Given the description of an element on the screen output the (x, y) to click on. 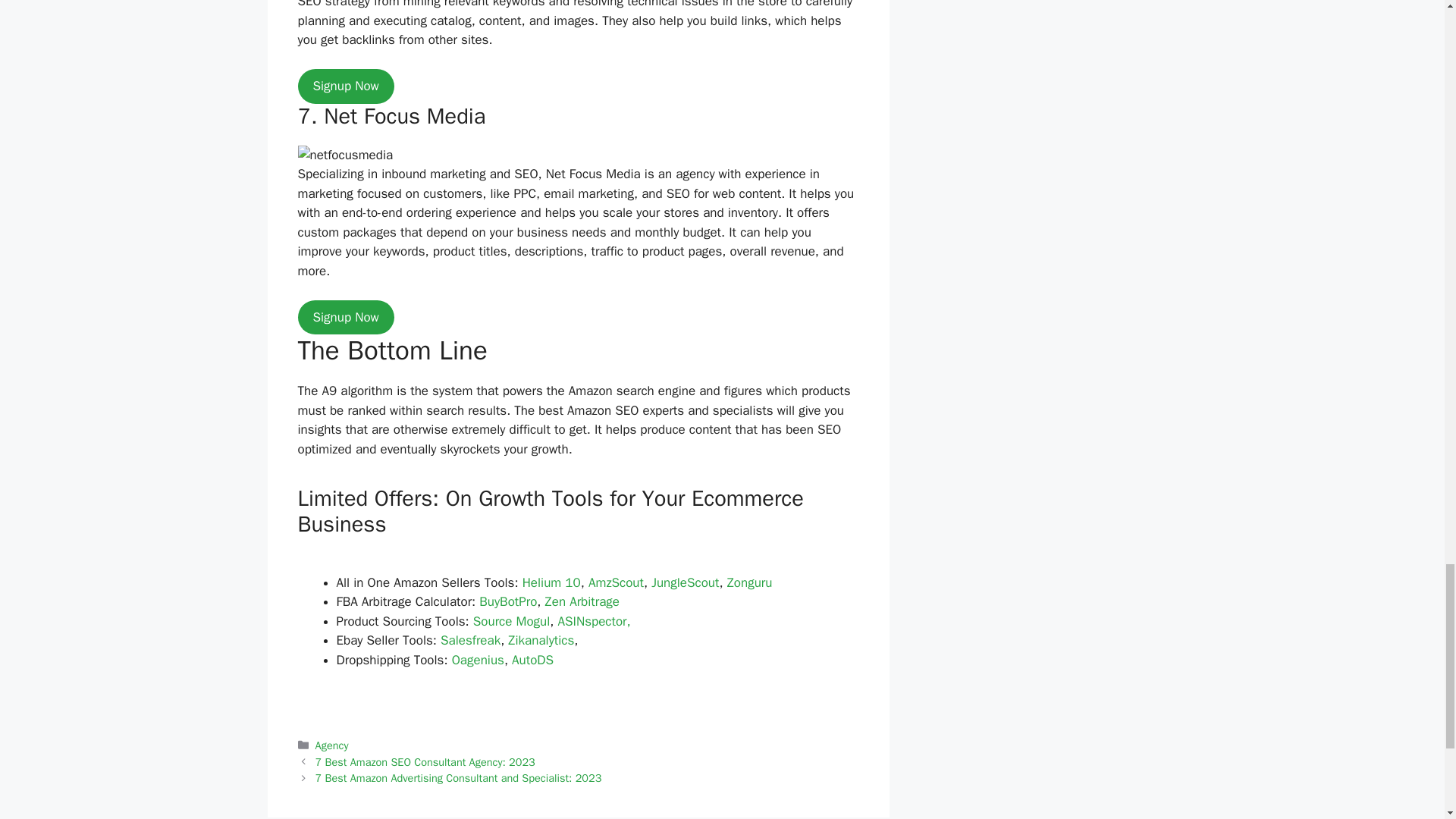
Helium 10 (551, 582)
Signup Now (345, 317)
Salesfreak (470, 640)
Zen Arbitrage (582, 601)
AmzScout (615, 582)
Zonguru (749, 582)
BuyBotPro (508, 601)
Source Mogul (511, 621)
Signup Now (345, 86)
JungleScout (684, 582)
